Given the description of an element on the screen output the (x, y) to click on. 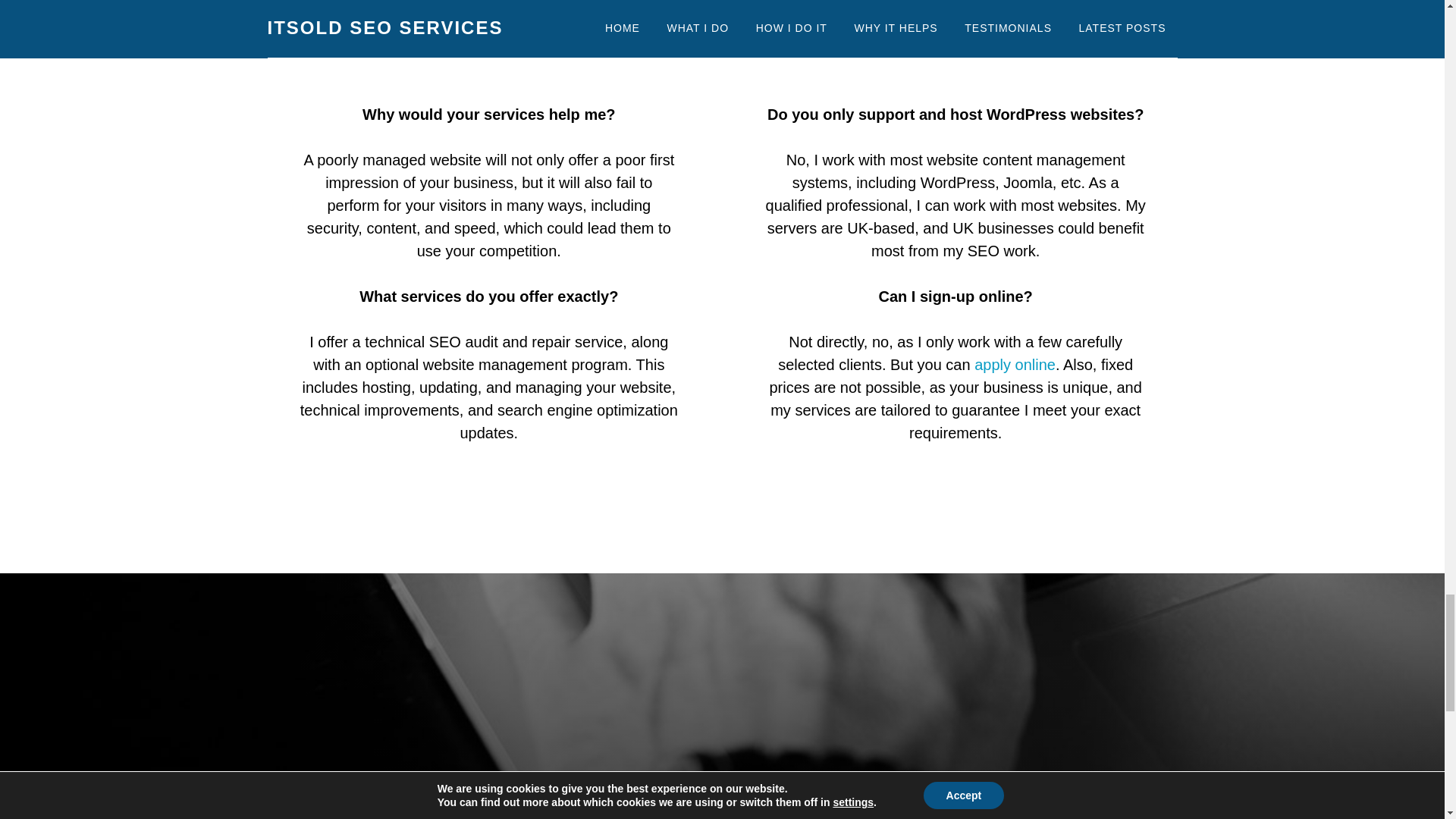
apply online (1014, 364)
